Given the description of an element on the screen output the (x, y) to click on. 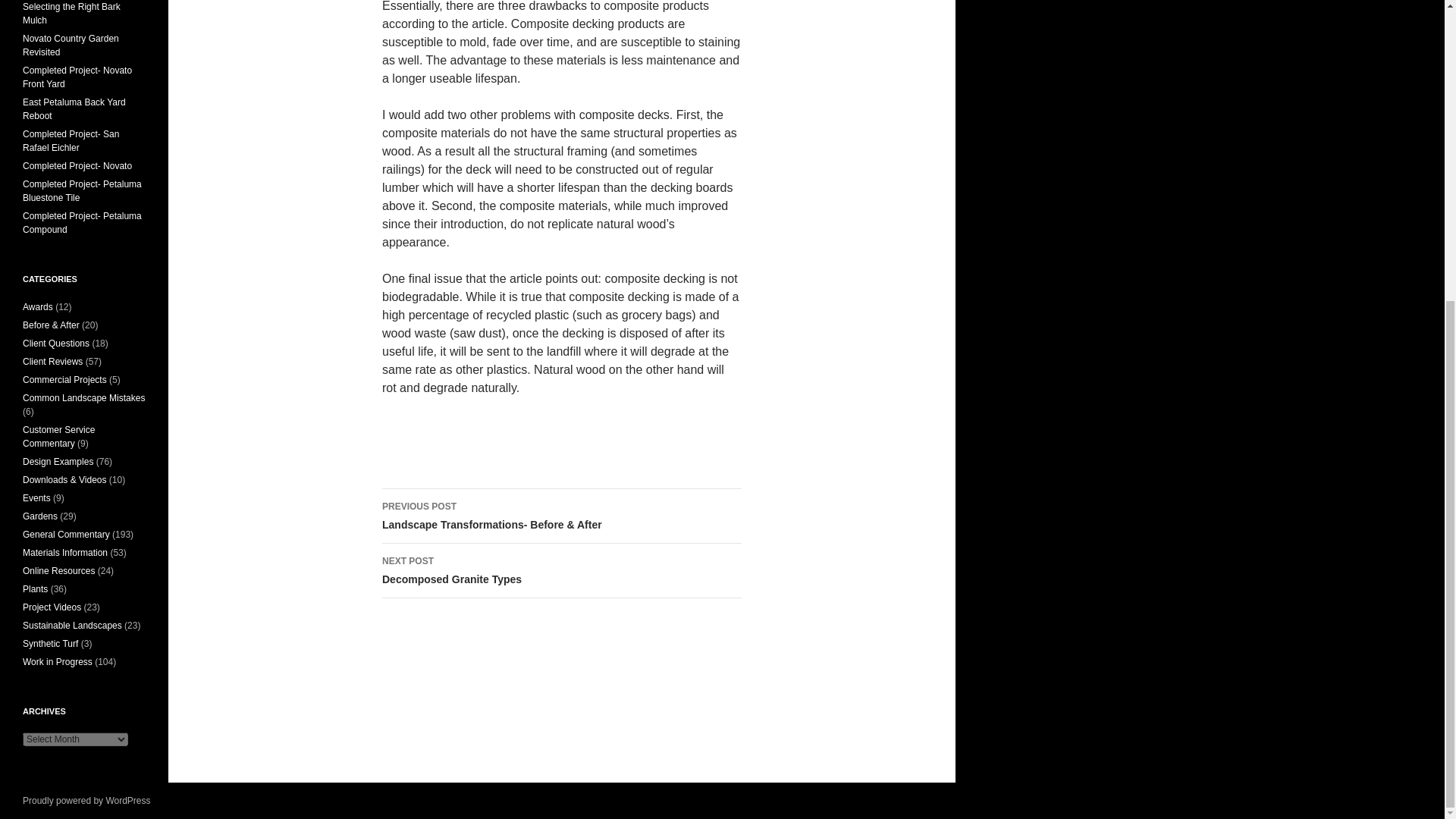
Completed Project- Novato Front Yard (77, 77)
Novato Country Garden Revisited (71, 45)
Completed Project- San Rafael Eichler (561, 570)
Selecting the Right Bark Mulch (71, 140)
East Petaluma Back Yard Reboot (71, 13)
